Given the description of an element on the screen output the (x, y) to click on. 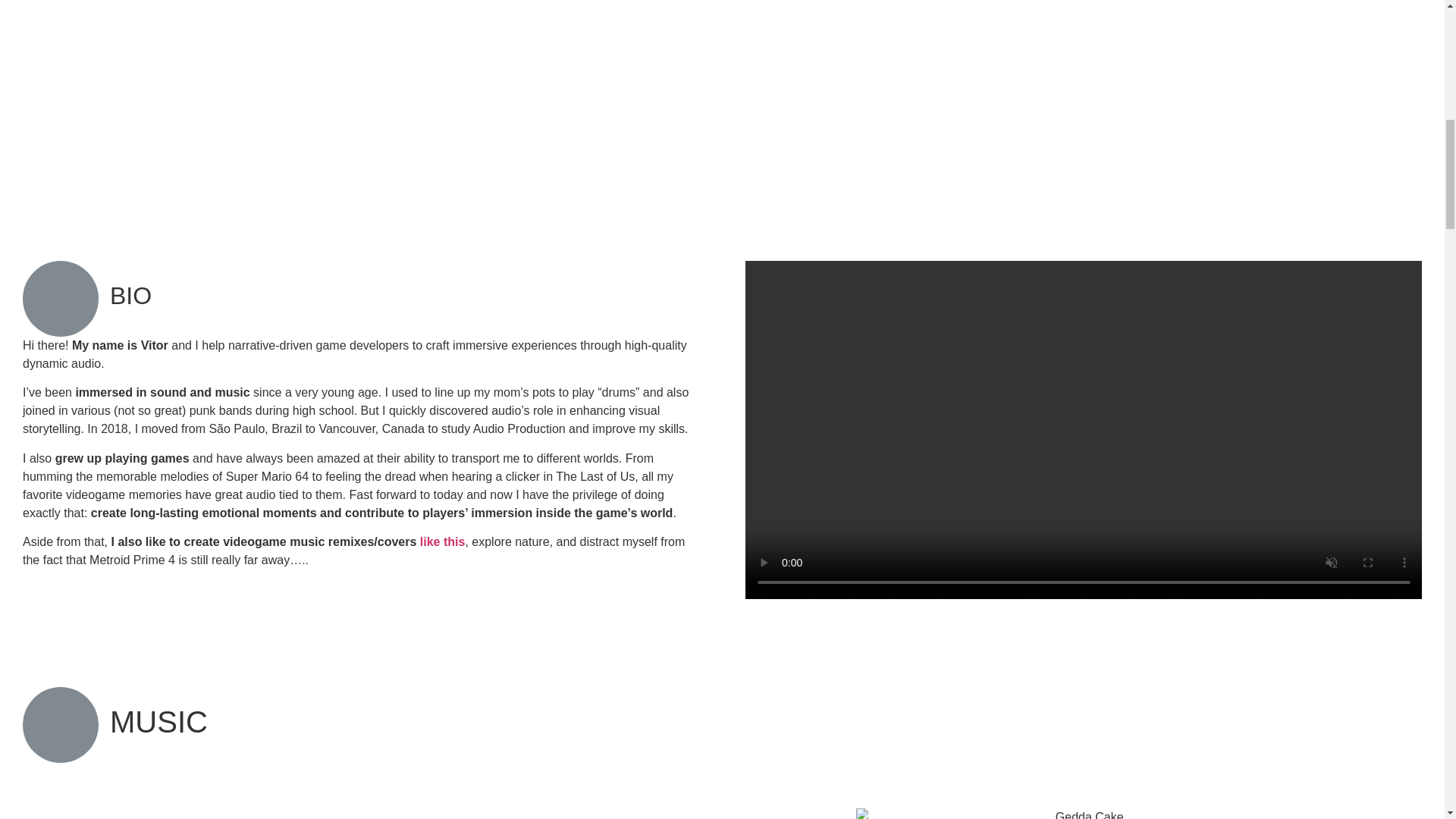
like this (442, 541)
